Given the description of an element on the screen output the (x, y) to click on. 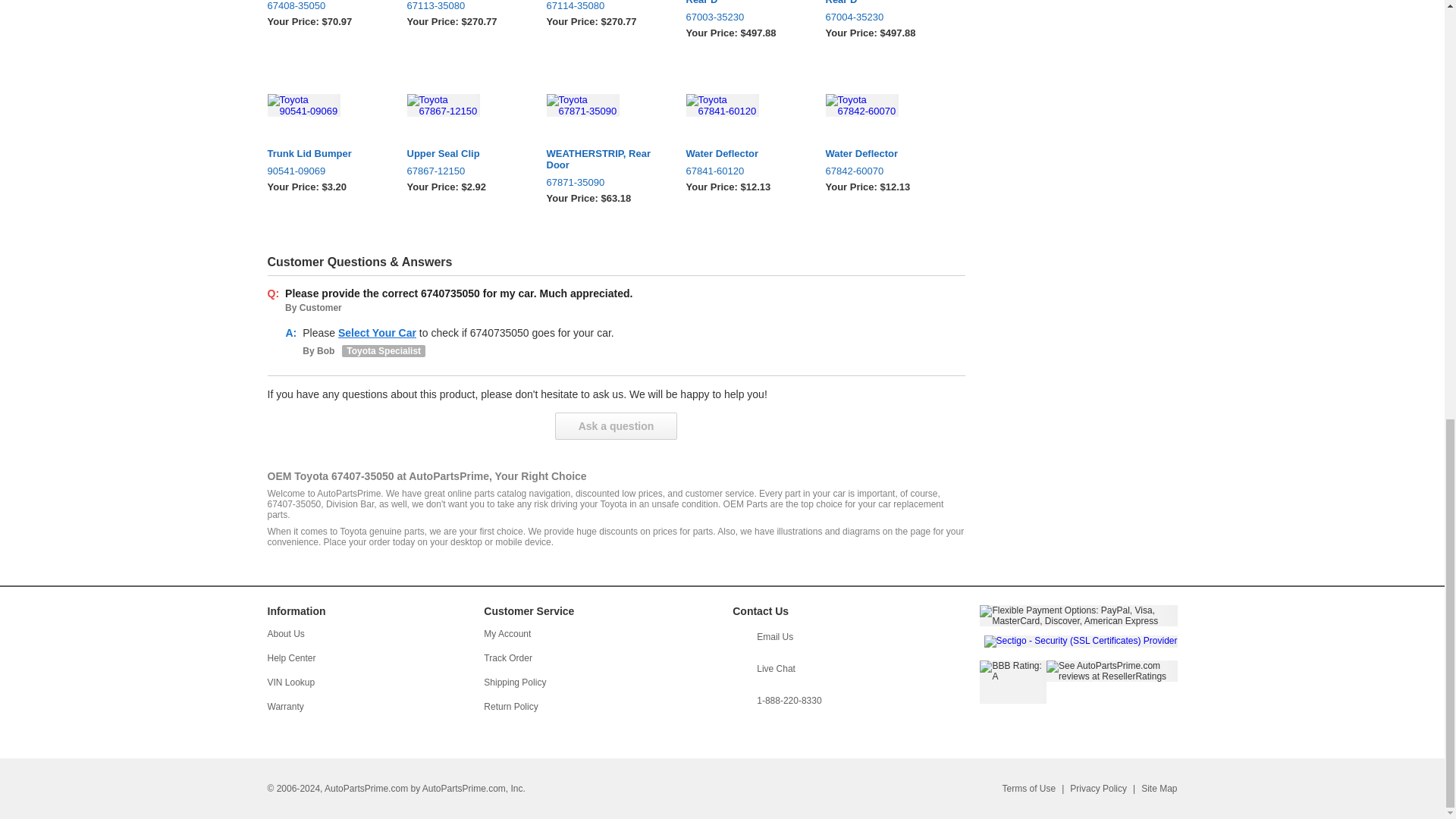
67867-12150 (466, 170)
Upper Seal Clip (466, 153)
Trunk Lid Bumper (327, 153)
67113-35080 (466, 5)
WEATHERSTRIP, Rear Door (606, 159)
67114-35080 (606, 5)
Panel Sub-Assembly, Rear D (885, 2)
67004-35230 (885, 16)
90541-09069 (327, 170)
67003-35230 (745, 16)
Panel Sub-Assembly, Rear D (745, 2)
67408-35050 (327, 5)
